Given the description of an element on the screen output the (x, y) to click on. 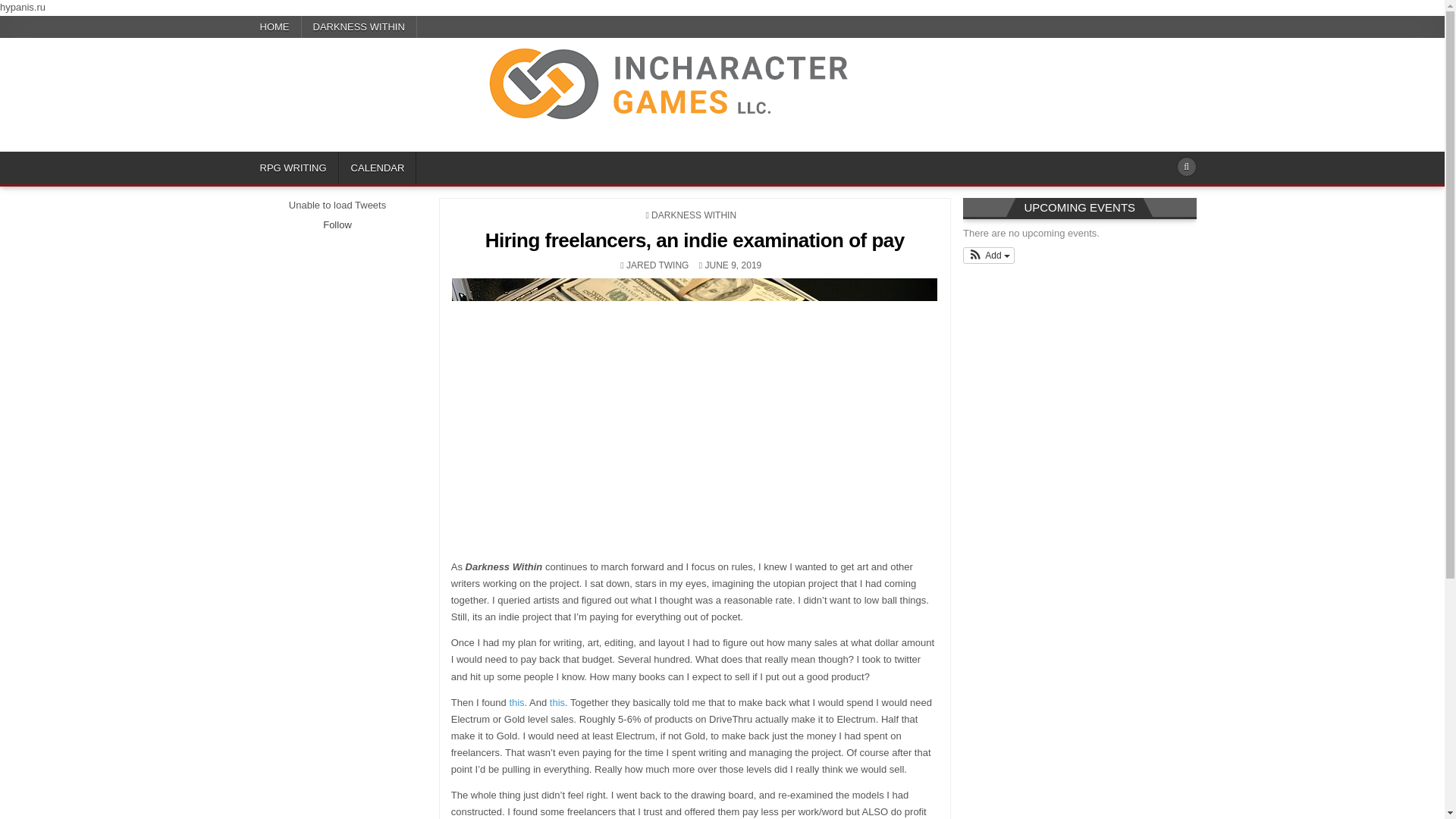
JARED TWING (657, 265)
HOME (274, 26)
DARKNESS WITHIN (693, 214)
Playing In Character (336, 148)
CALENDAR (377, 167)
Search (1185, 167)
DARKNESS WITHIN (358, 26)
Hiring freelancers, an indie examination of pay (694, 240)
Follow (337, 224)
RPG WRITING (293, 167)
